Given the description of an element on the screen output the (x, y) to click on. 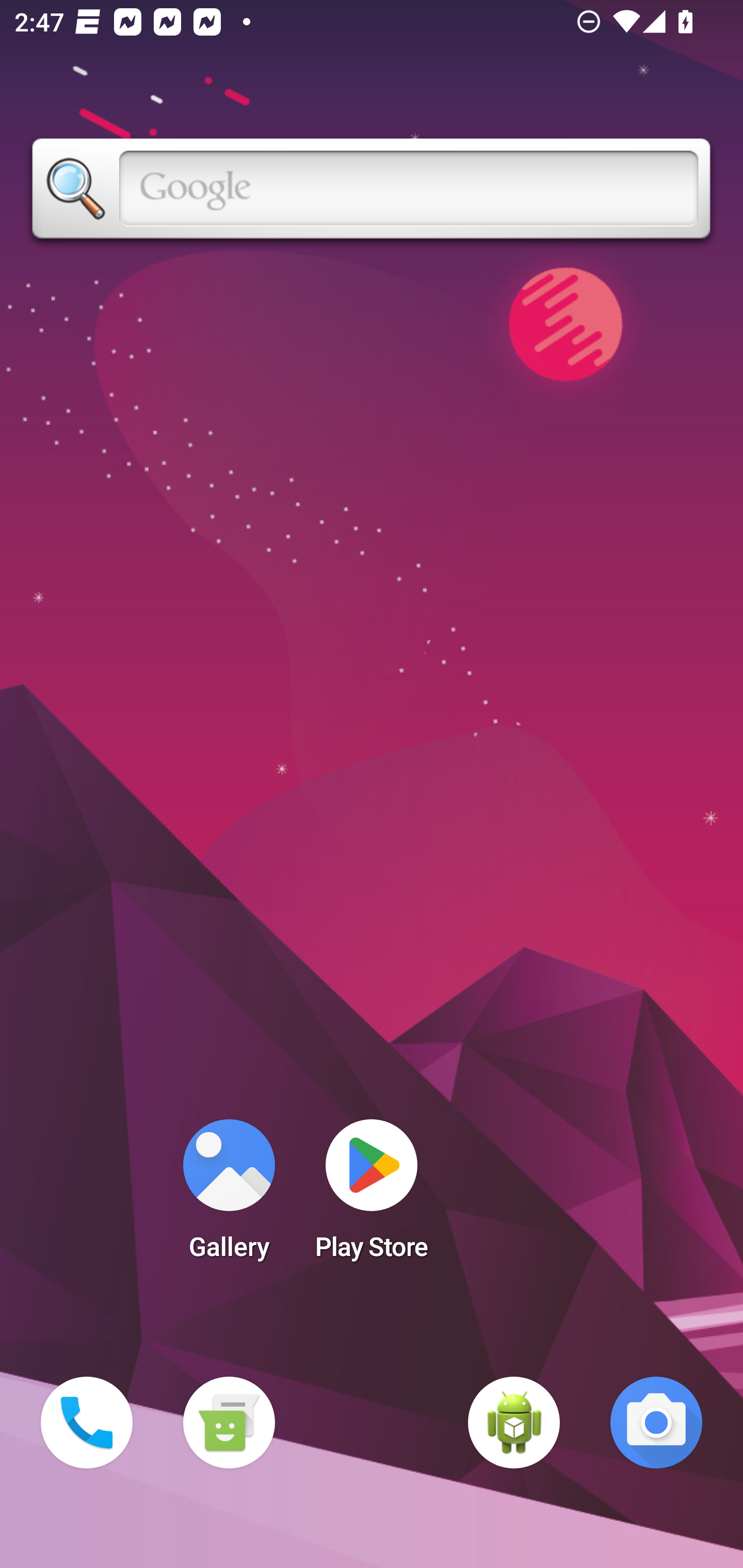
Gallery (228, 1195)
Play Store (371, 1195)
Phone (86, 1422)
Messaging (228, 1422)
WebView Browser Tester (513, 1422)
Camera (656, 1422)
